Given the description of an element on the screen output the (x, y) to click on. 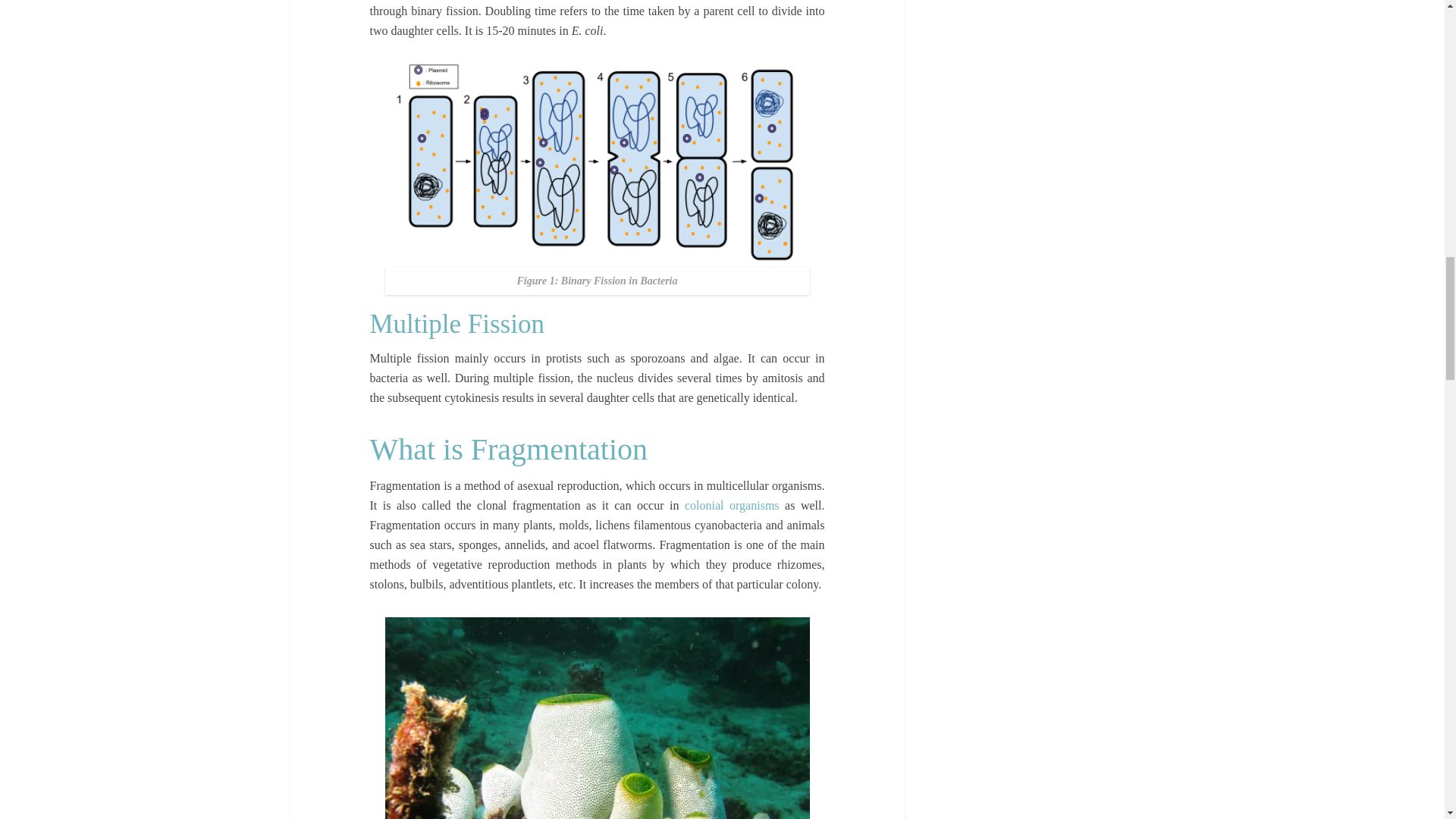
colonial organisms (731, 504)
